Given the description of an element on the screen output the (x, y) to click on. 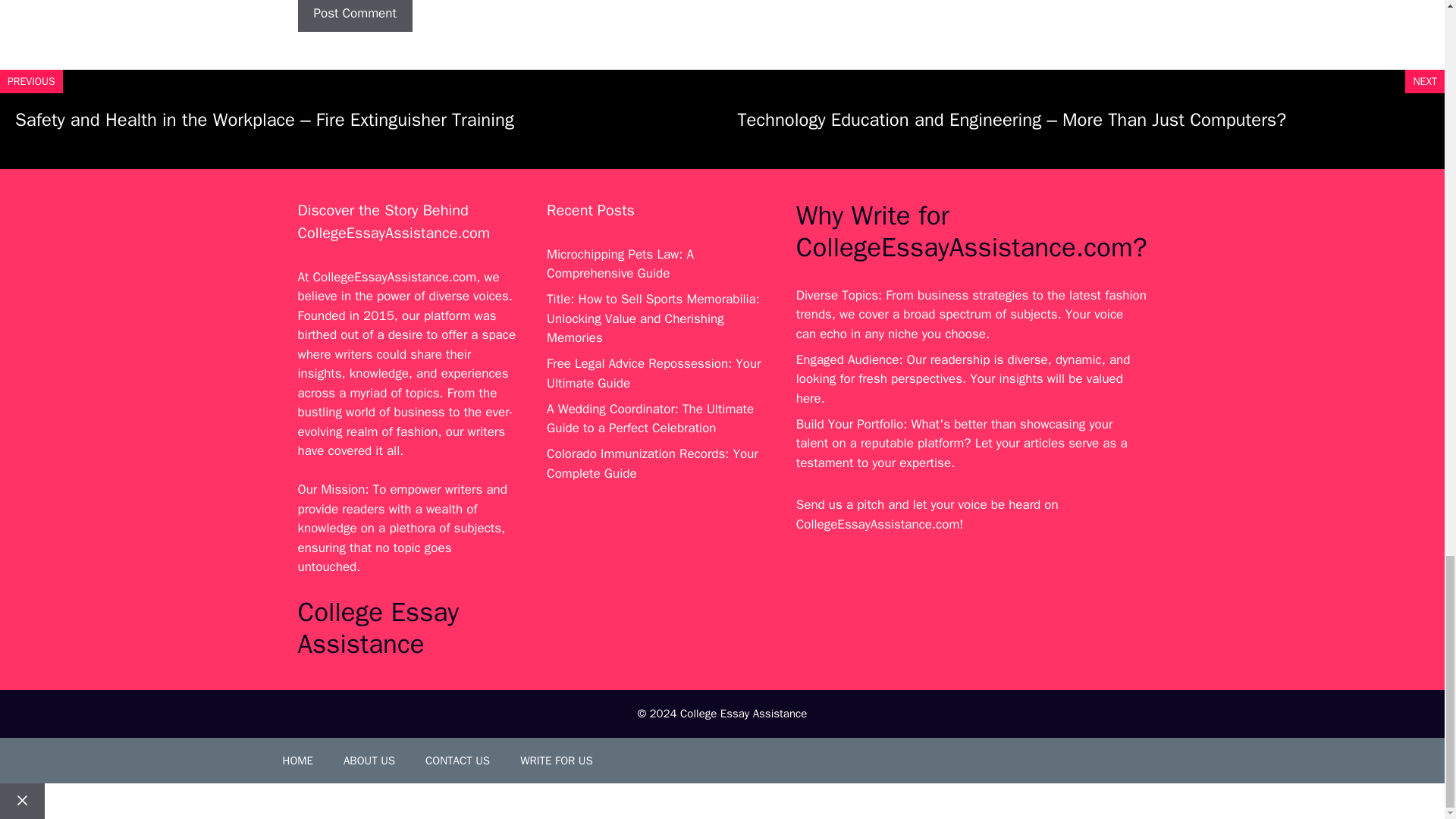
Send us a pitch (839, 504)
Post Comment (354, 15)
Microchipping Pets Law: A Comprehensive Guide (620, 263)
Free Legal Advice Repossession: Your Ultimate Guide (654, 373)
Colorado Immunization Records: Your Complete Guide (652, 463)
Post Comment (354, 15)
ABOUT US (369, 759)
HOME (296, 759)
WRITE FOR US (556, 759)
